Given the description of an element on the screen output the (x, y) to click on. 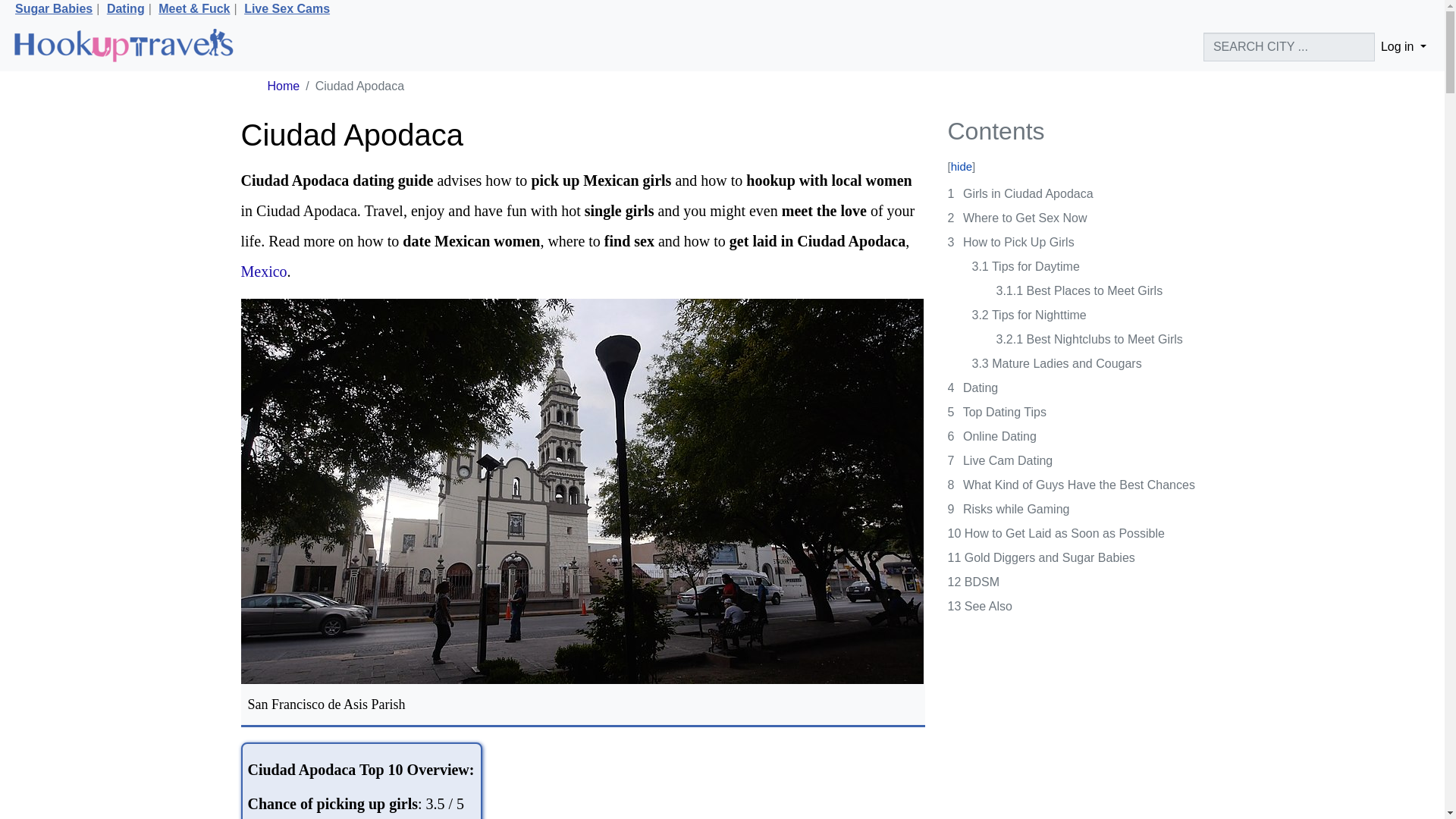
Hookup Travels (122, 46)
Mexico (263, 271)
Home (282, 85)
Sugar Babies (53, 8)
Live Sex Cams (287, 8)
Log in (1403, 46)
Dating (125, 8)
Mexico (263, 271)
